Given the description of an element on the screen output the (x, y) to click on. 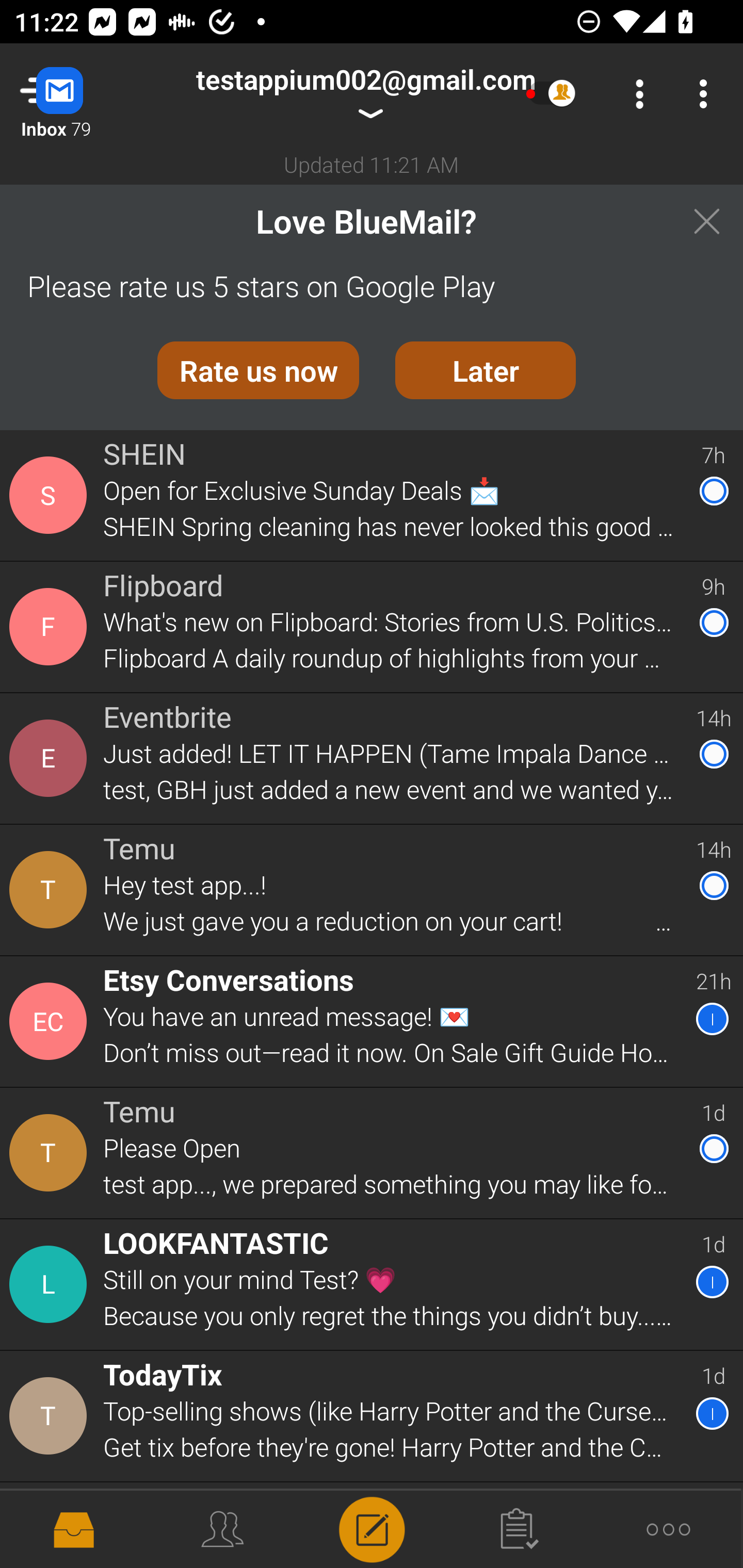
Navigate up (81, 93)
testappium002@gmail.com (365, 93)
More Options (634, 93)
More options (706, 93)
Updated 11:21 AM (371, 164)
Rate us now (257, 370)
Later (485, 370)
Contact Details (50, 495)
Contact Details (50, 626)
Contact Details (50, 758)
Contact Details (50, 889)
Contact Details (50, 1021)
Contact Details (50, 1153)
Contact Details (50, 1284)
Contact Details (50, 1416)
Compose (371, 1528)
